Given the description of an element on the screen output the (x, y) to click on. 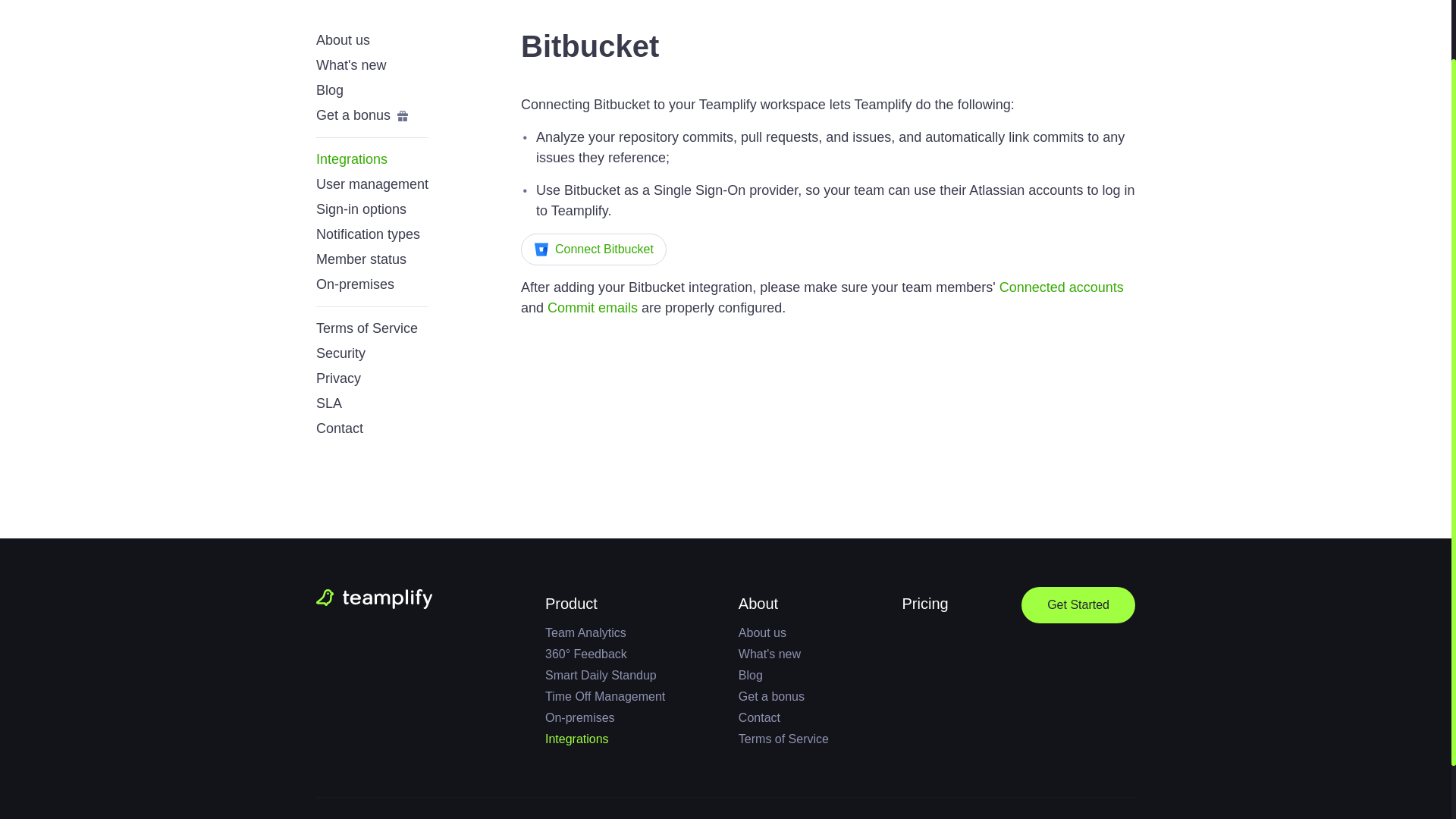
Connected accounts (1061, 287)
Notification types (367, 234)
Integrations (351, 159)
What's new (350, 65)
Privacy (338, 378)
Get a bonus (362, 115)
Blog (329, 90)
Sign-in options (360, 209)
Contact (338, 428)
On-premises (354, 284)
